Given the description of an element on the screen output the (x, y) to click on. 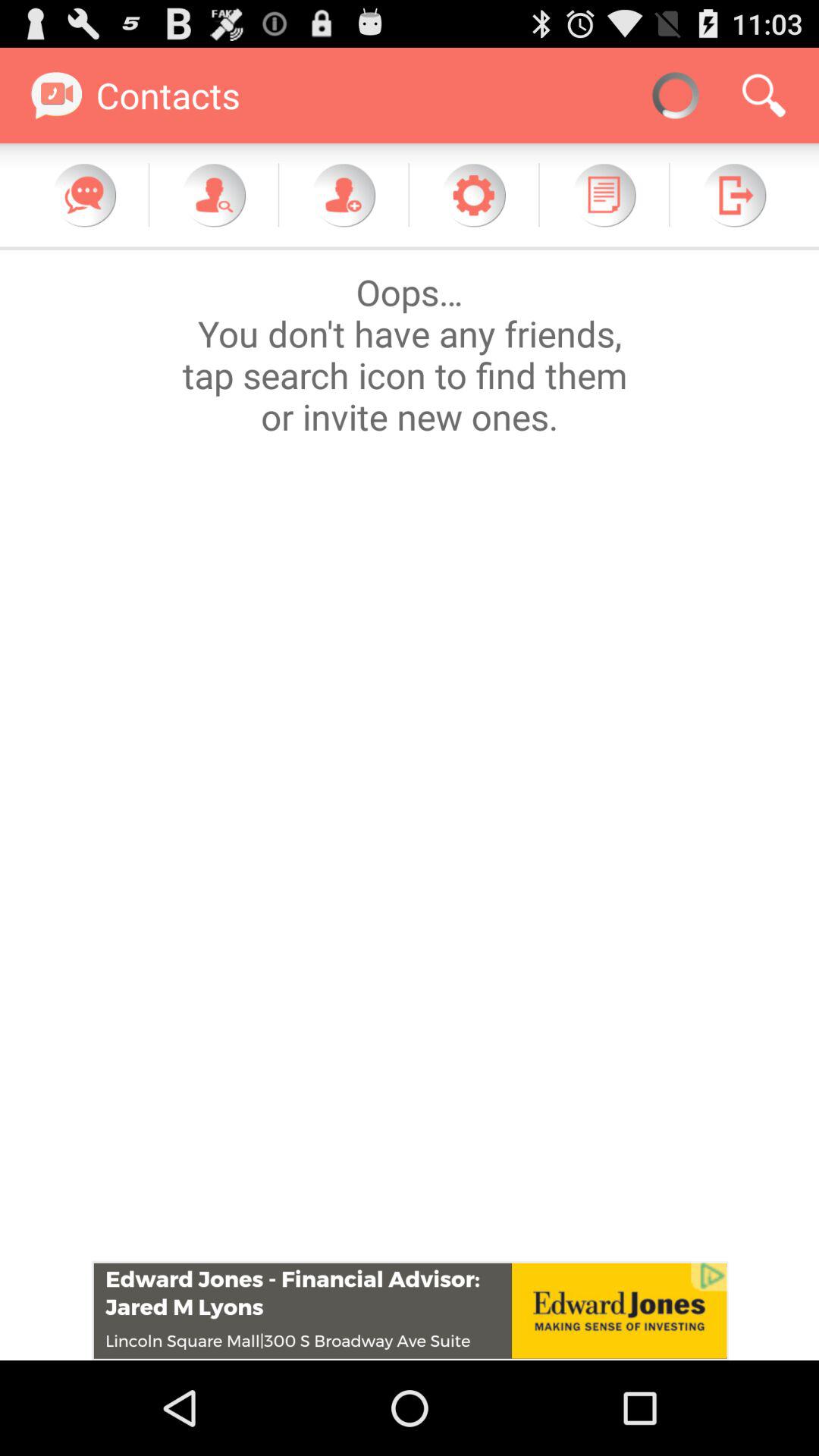
go to next page (734, 194)
